Given the description of an element on the screen output the (x, y) to click on. 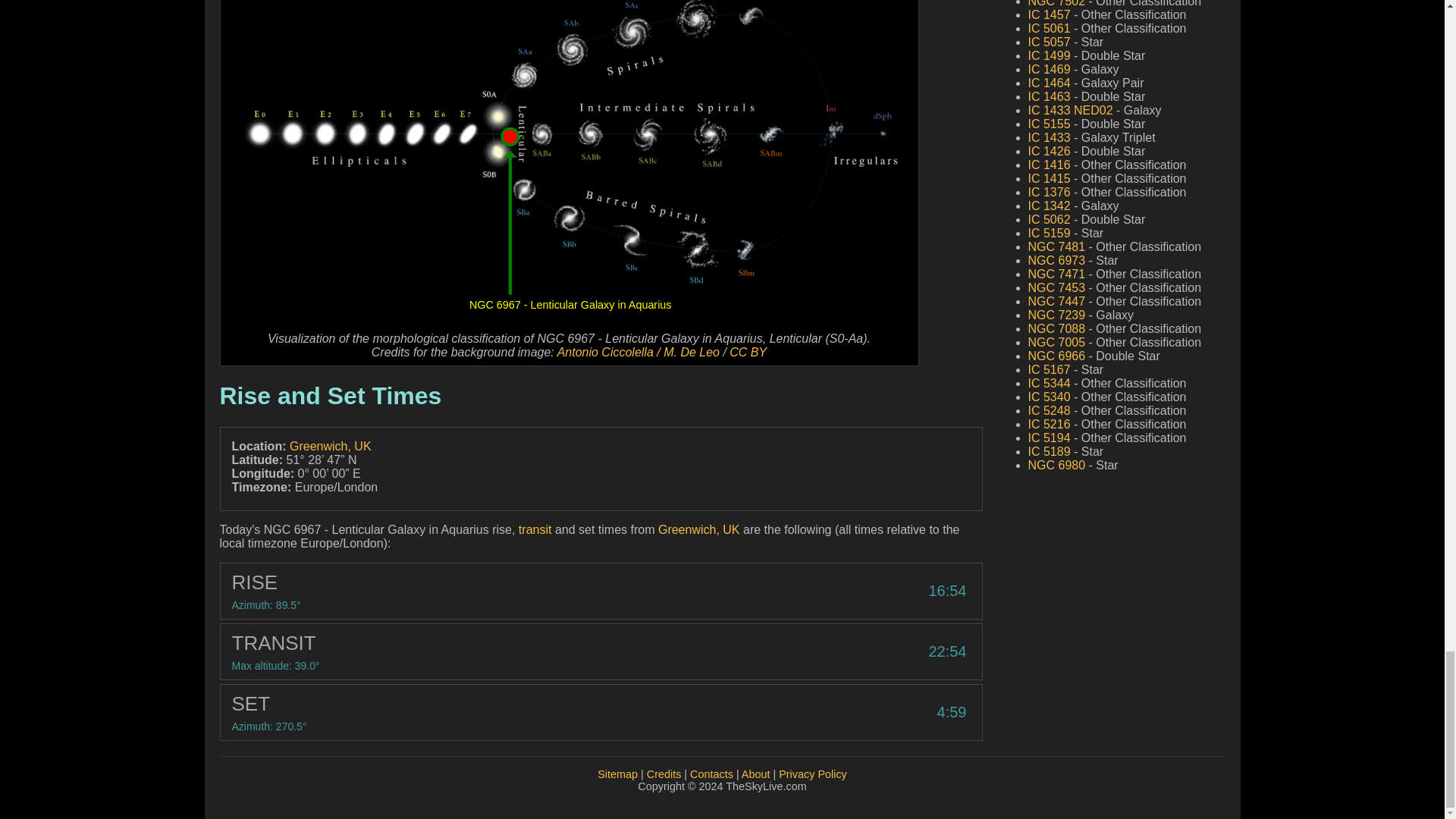
via Wikimedia Commons (638, 351)
Change location (698, 529)
Change location (330, 445)
